Given the description of an element on the screen output the (x, y) to click on. 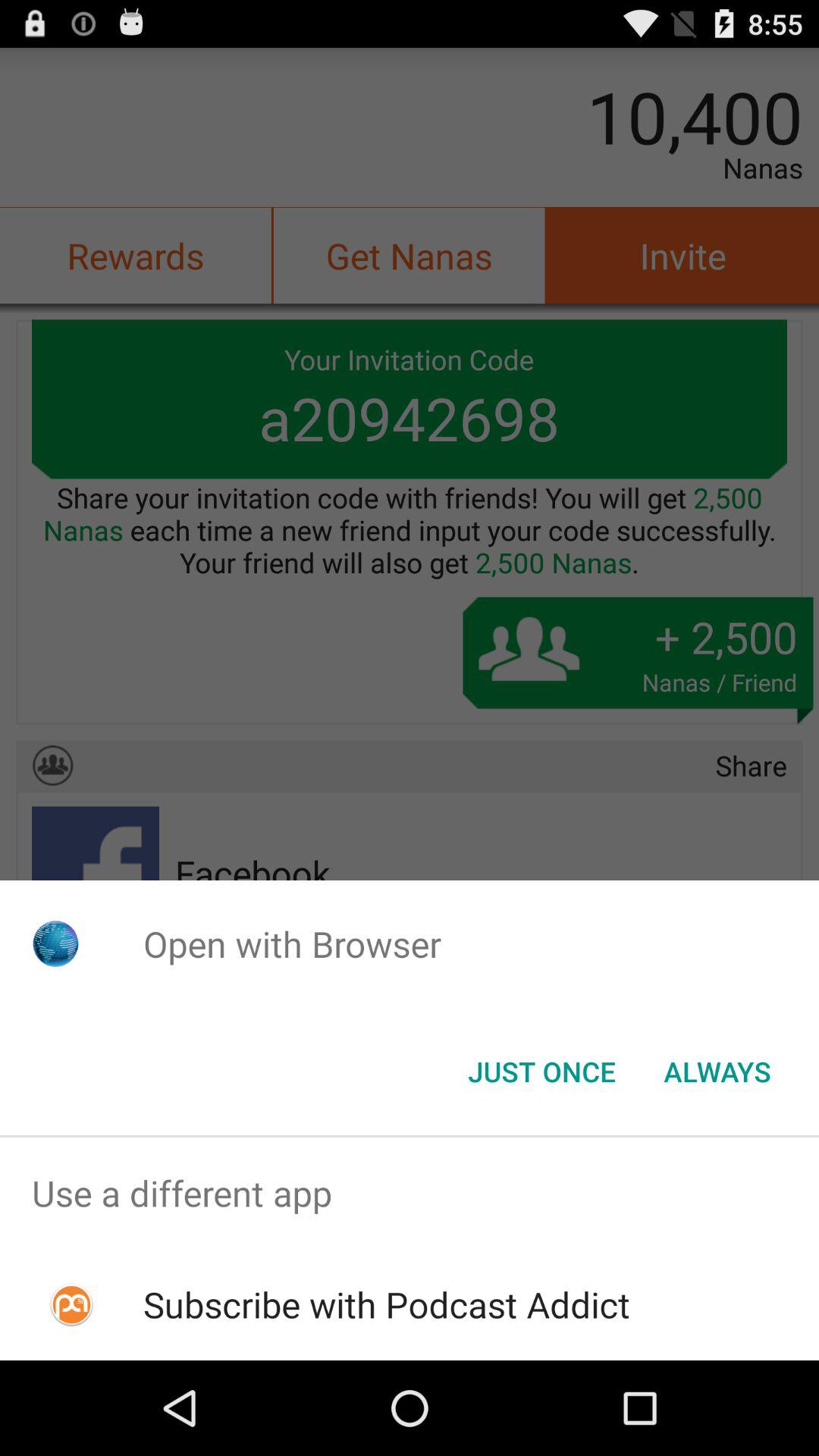
tap the app below open with browser icon (717, 1071)
